Given the description of an element on the screen output the (x, y) to click on. 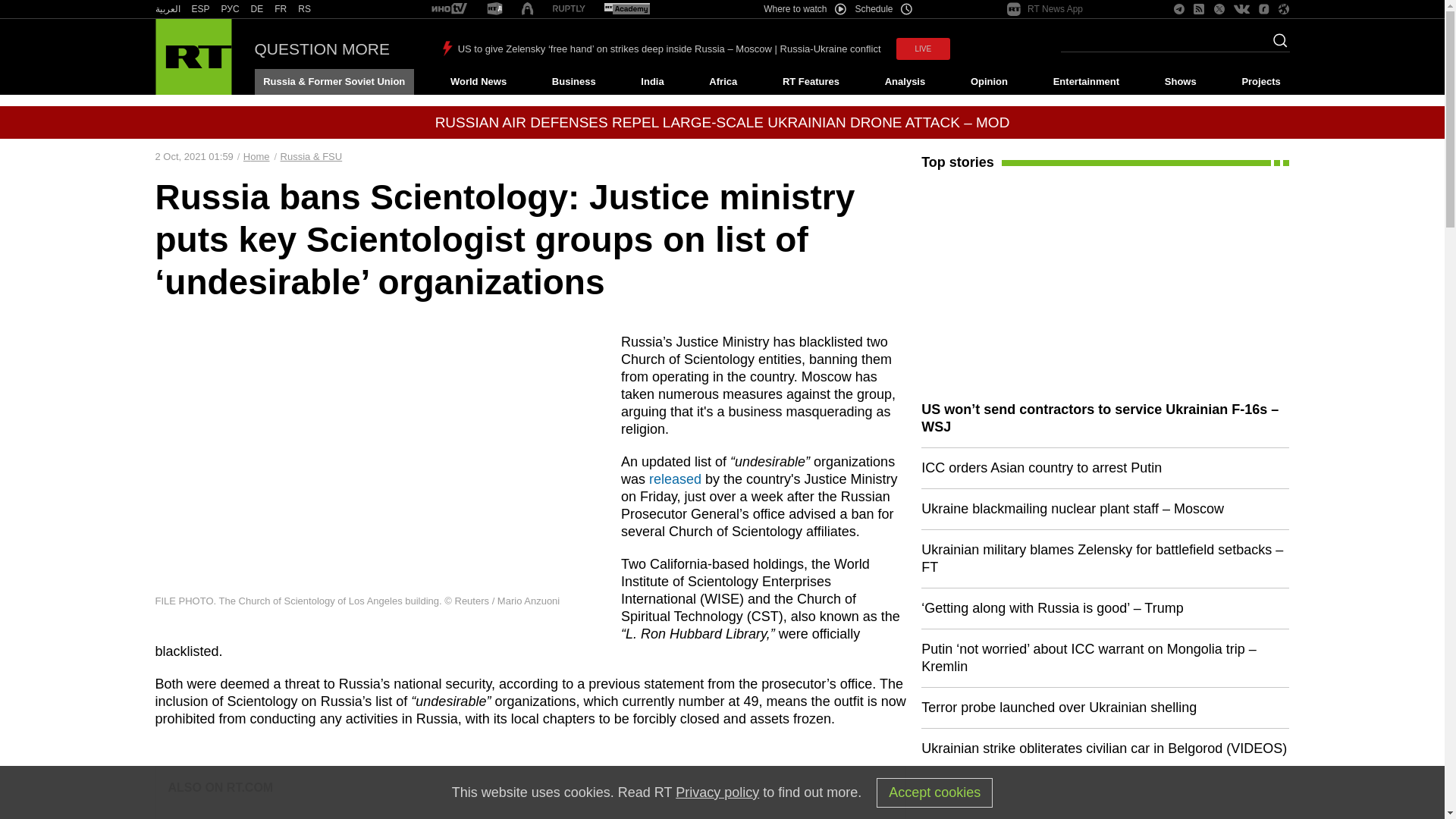
Analysis (905, 81)
India (651, 81)
RT  (304, 9)
Search (1276, 44)
RS (304, 9)
Business (573, 81)
RT Features (810, 81)
Entertainment (1085, 81)
QUESTION MORE (322, 48)
RT  (166, 9)
